Given the description of an element on the screen output the (x, y) to click on. 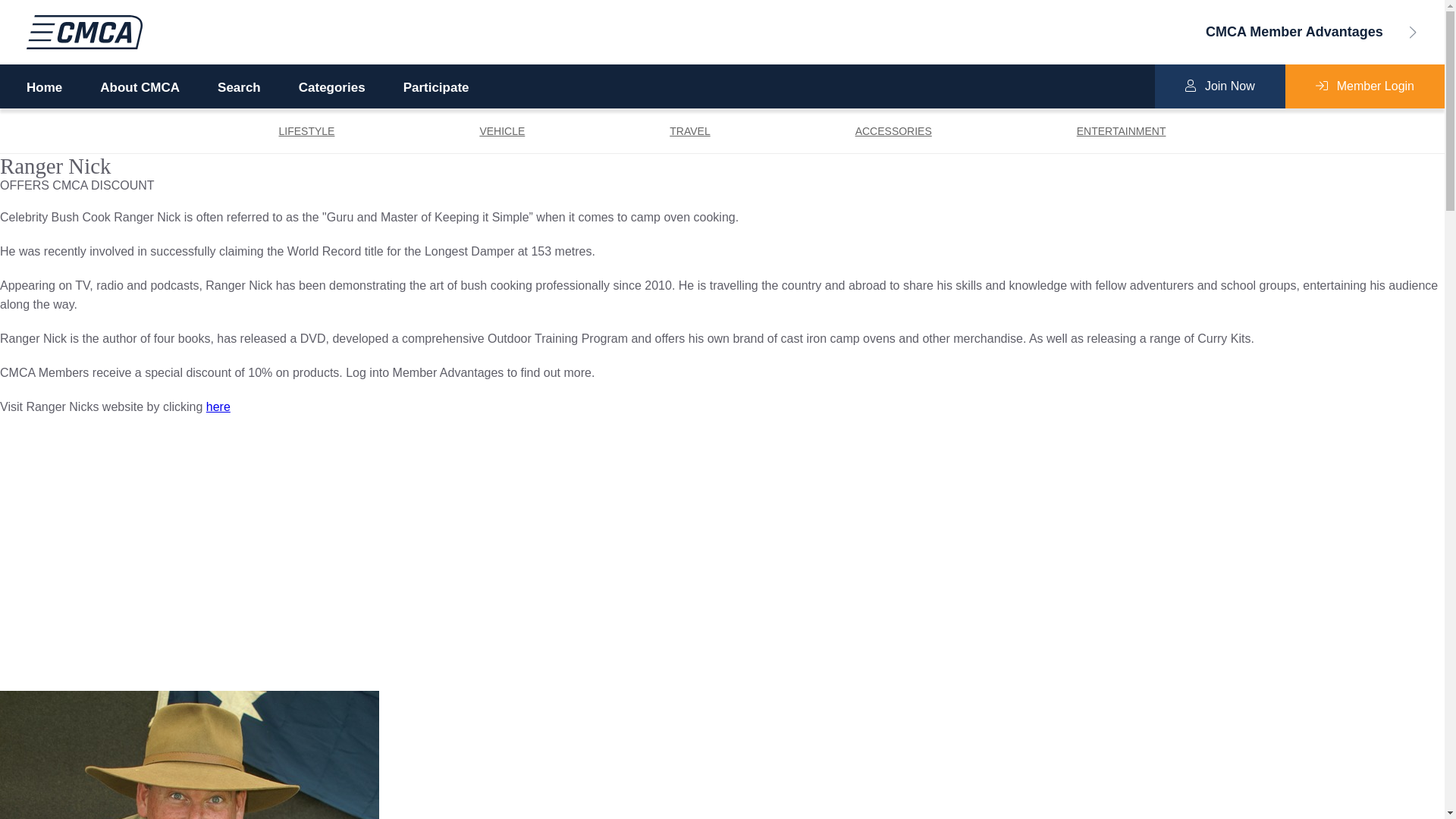
Member Login Element type: text (1364, 86)
About CMCA Element type: text (139, 87)
VEHICLE Element type: text (501, 130)
here Element type: text (218, 406)
ENTERTAINMENT Element type: text (1121, 130)
ACCESSORIES Element type: text (893, 130)
Participate Element type: text (436, 87)
TRAVEL Element type: text (689, 130)
YouTube video player Element type: hover (246, 550)
Home Element type: text (44, 87)
Join Now Element type: text (1219, 86)
LIFESTYLE Element type: text (305, 130)
Search Element type: text (238, 87)
Categories Element type: text (331, 87)
